Given the description of an element on the screen output the (x, y) to click on. 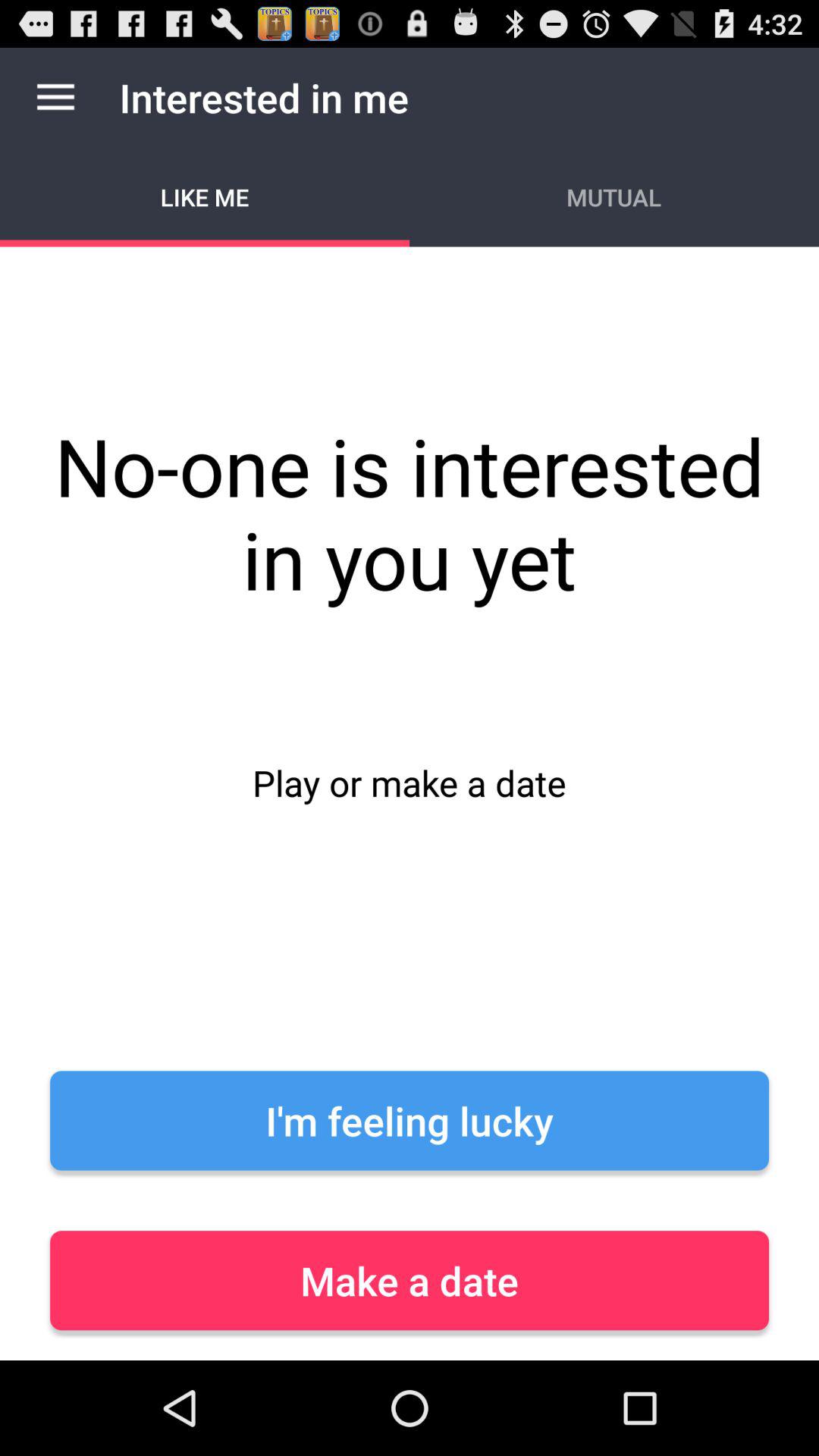
choose app next to interested in me app (55, 97)
